Given the description of an element on the screen output the (x, y) to click on. 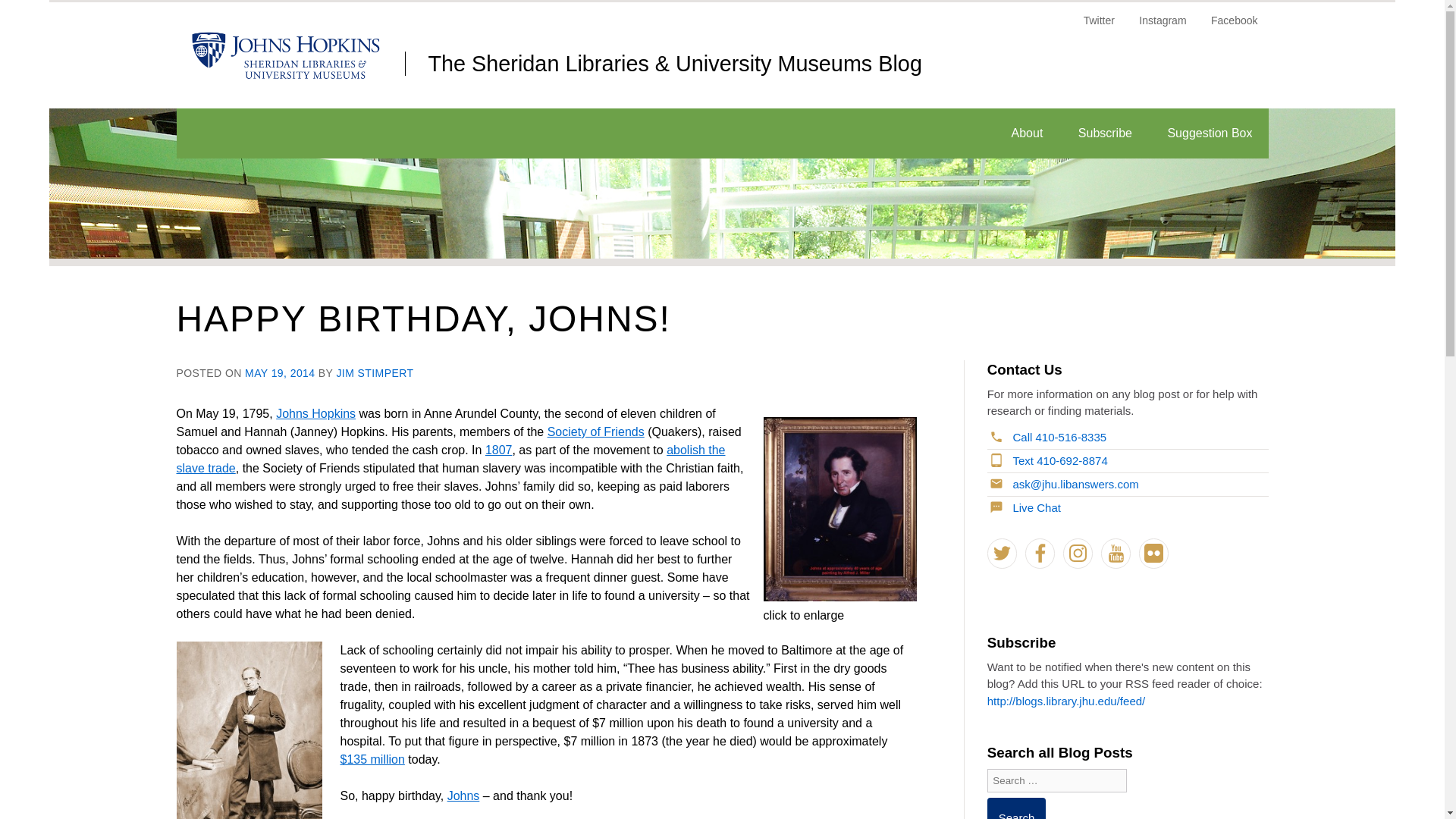
Search (1016, 808)
Facebook (1233, 25)
Text 410-692-8874 (1048, 460)
Twitter (1002, 553)
Johns (463, 795)
Subscribe (1105, 133)
JIM STIMPERT (374, 372)
Search (1016, 808)
Suggestion Box (1209, 133)
About (1027, 133)
